Given the description of an element on the screen output the (x, y) to click on. 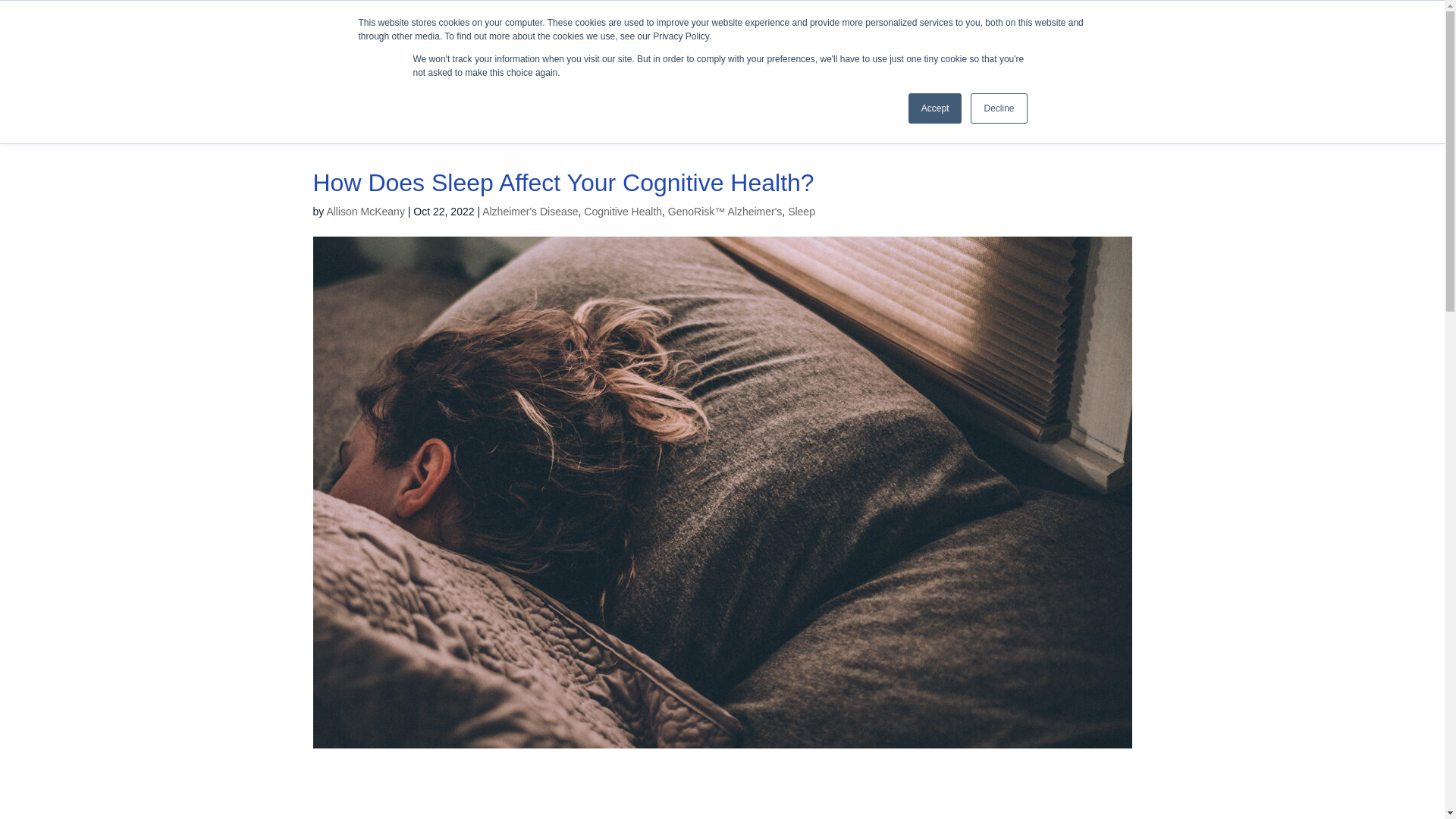
Posts by Allison McKeany (365, 211)
Log In (1406, 16)
PRODUCTS (816, 76)
LEARN (1040, 76)
Accept (935, 108)
Decline (998, 108)
Register Your Kit (1332, 16)
SHOP (1259, 16)
RESOURCES (934, 76)
